Given the description of an element on the screen output the (x, y) to click on. 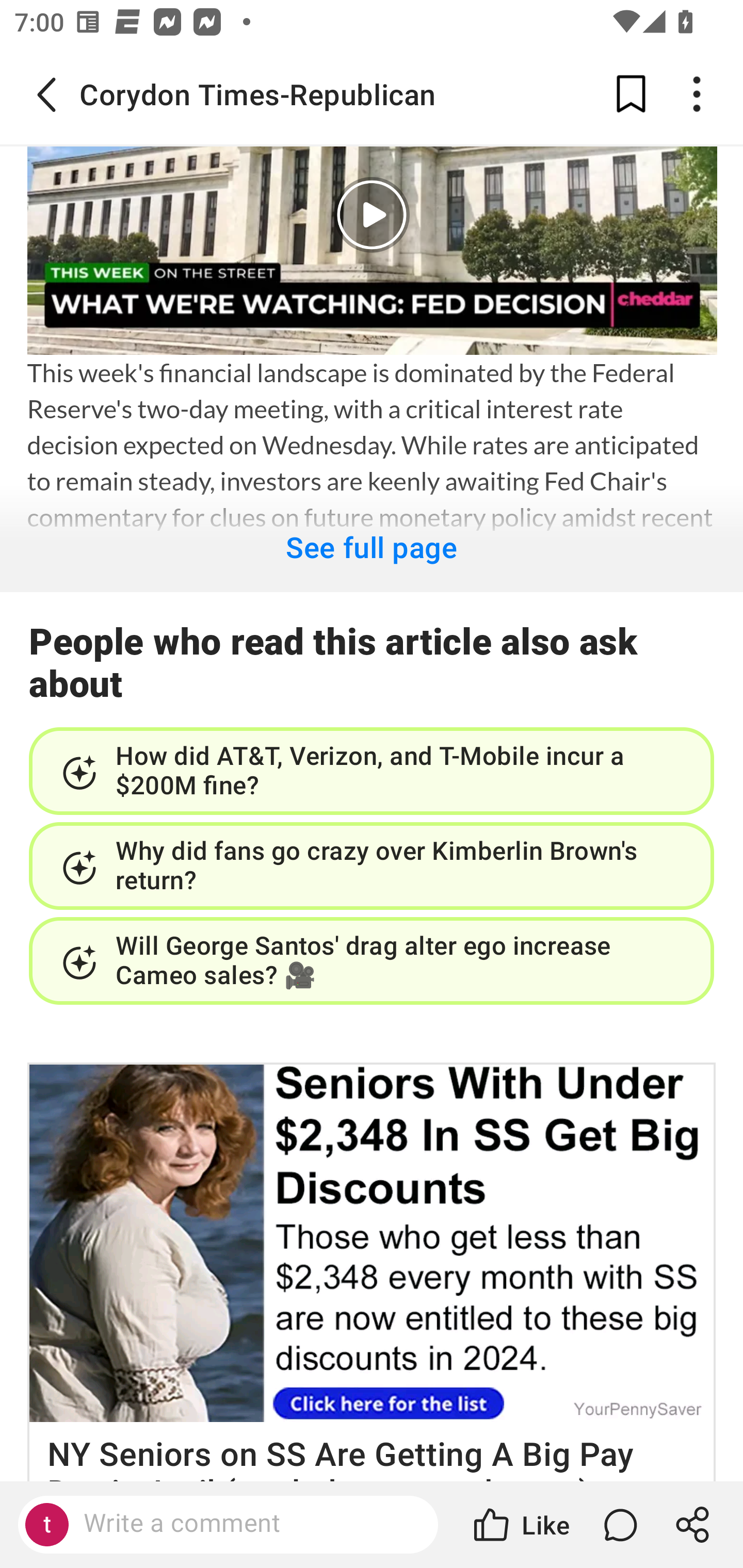
See full page (371, 538)
Like (519, 1524)
Write a comment (245, 1523)
